Given the description of an element on the screen output the (x, y) to click on. 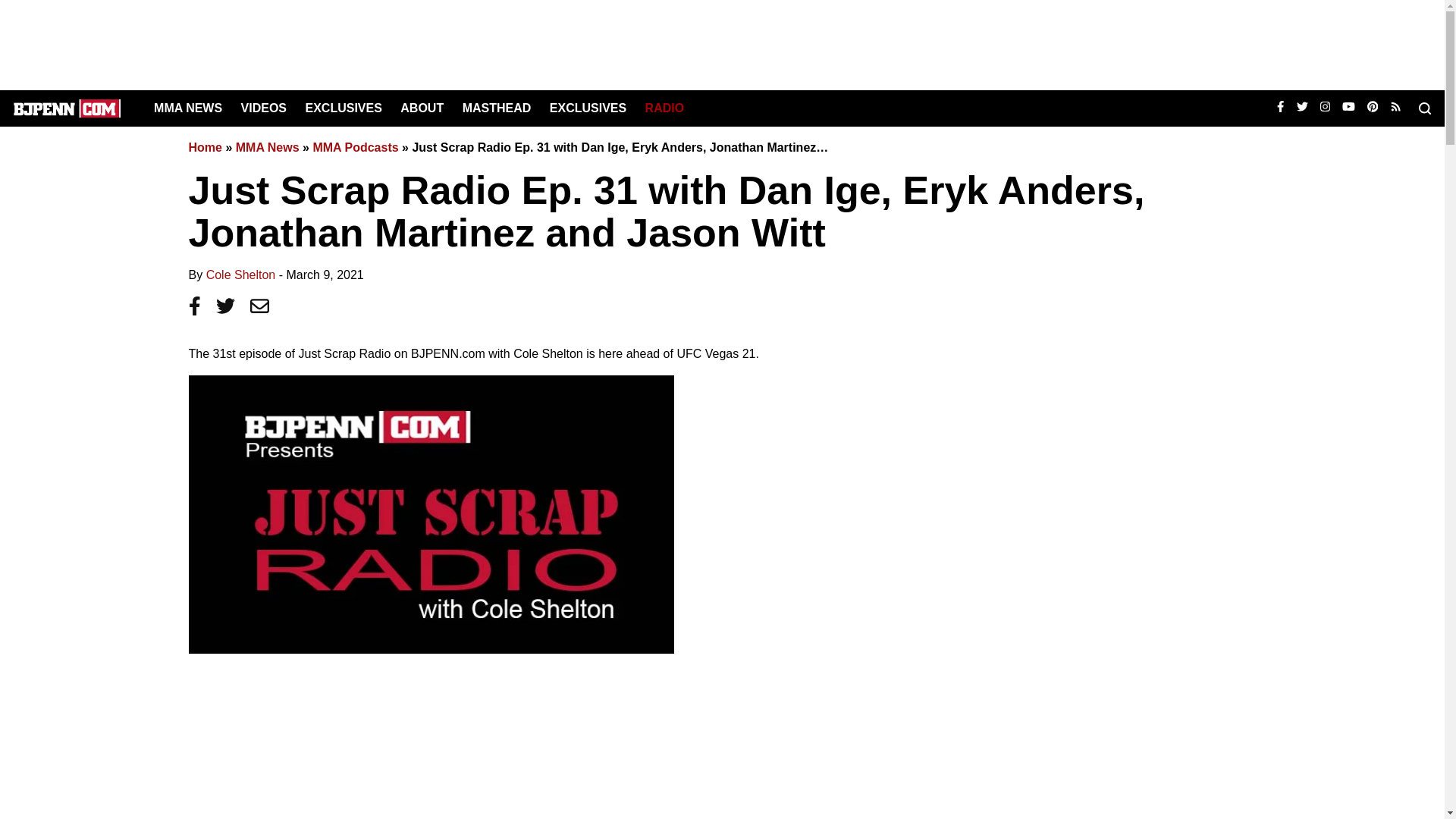
VIDEOS (263, 107)
ABOUT (422, 107)
RADIO (664, 107)
EXCLUSIVES (342, 107)
MMA NEWS (188, 107)
EXCLUSIVES (588, 107)
MASTHEAD (497, 107)
